Given the description of an element on the screen output the (x, y) to click on. 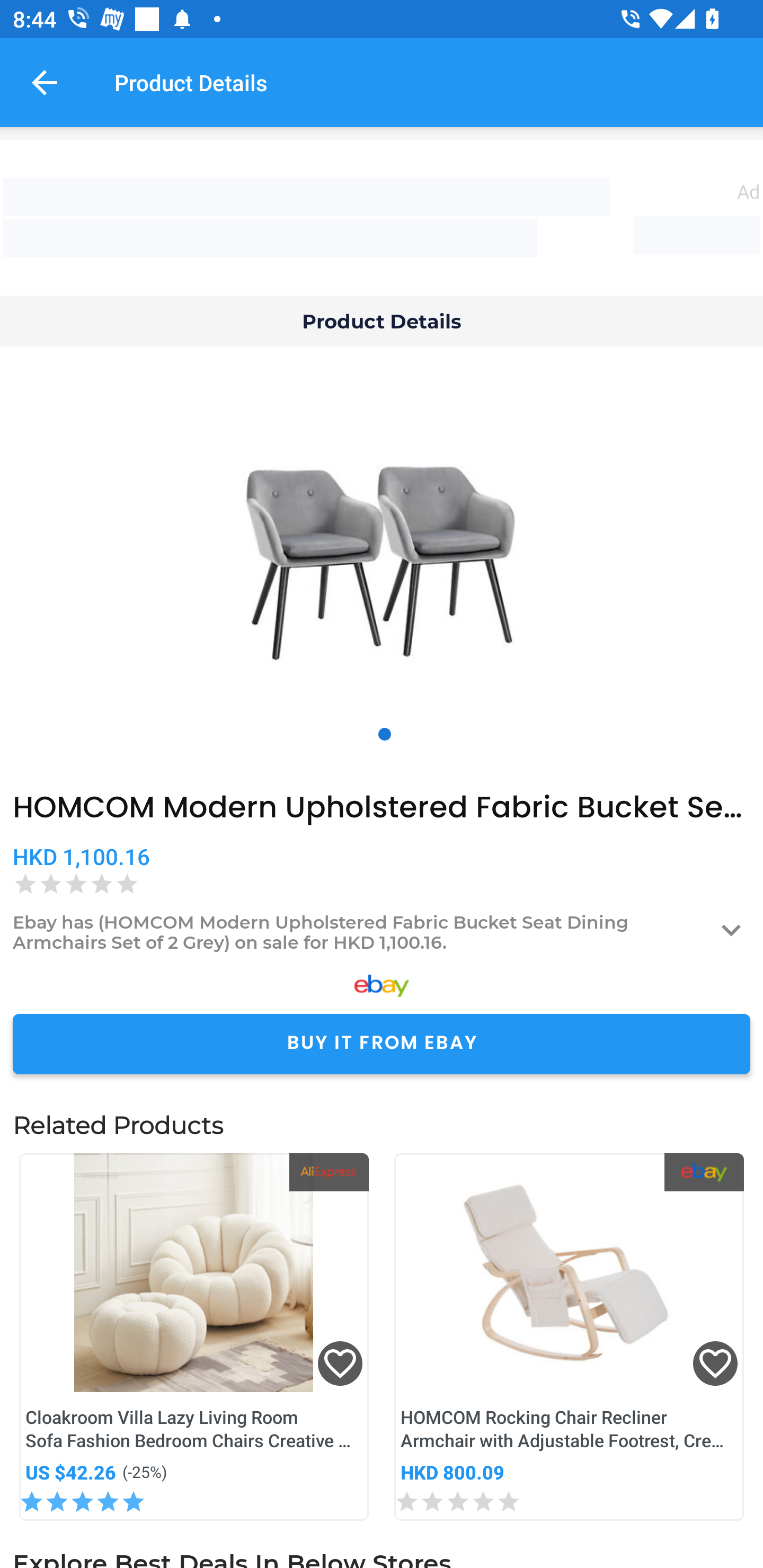
Navigate up (44, 82)
BUY IT FROM EBAY (381, 1044)
